Given the description of an element on the screen output the (x, y) to click on. 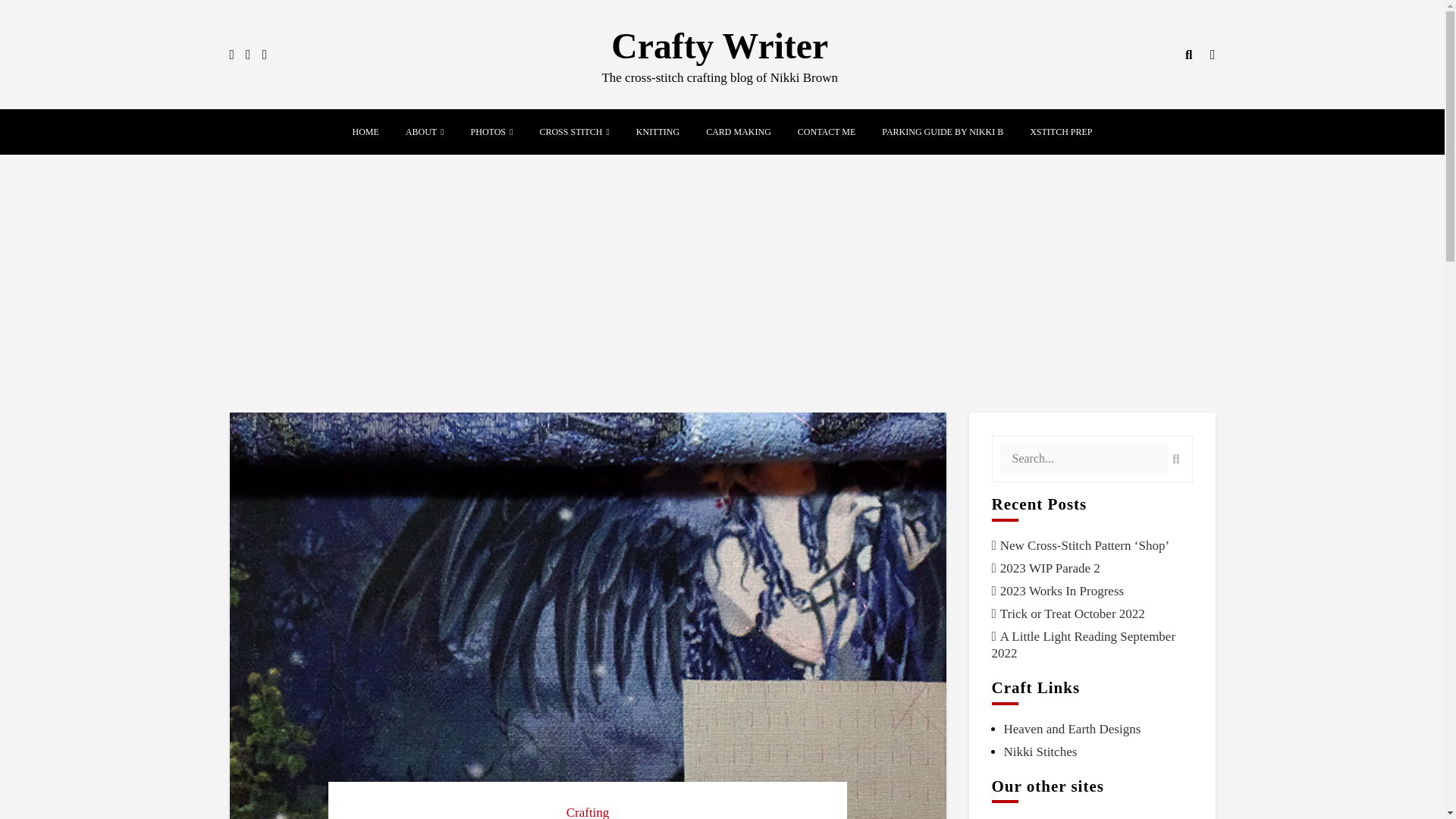
Crafty Writer (719, 45)
XSTITCH PREP (1060, 131)
PARKING GUIDE BY NIKKI B (942, 131)
My own cross-stitch pattern shop (1040, 751)
CROSS STITCH (570, 131)
KNITTING (657, 131)
CONTACT ME (826, 131)
CARD MAKING (738, 131)
